Given the description of an element on the screen output the (x, y) to click on. 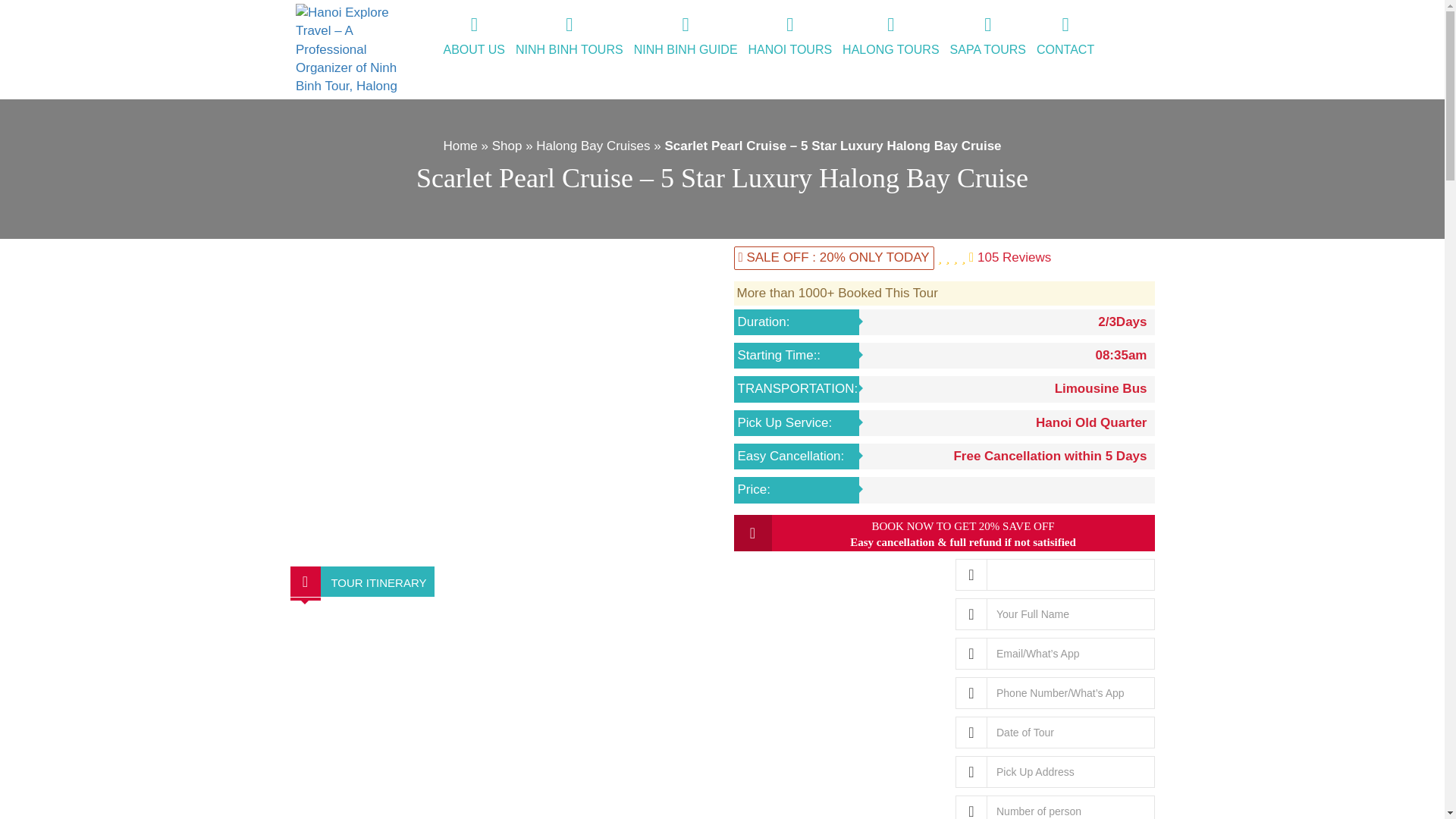
Halong Bay Cruises (592, 145)
ABOUT US (474, 37)
Home (459, 145)
NINH BINH GUIDE (685, 37)
HANOI TOURS (790, 37)
CONTACT (1064, 37)
HALONG TOURS (890, 37)
NINH BINH TOURS (569, 37)
SAPA TOURS (987, 37)
Shop (507, 145)
